Given the description of an element on the screen output the (x, y) to click on. 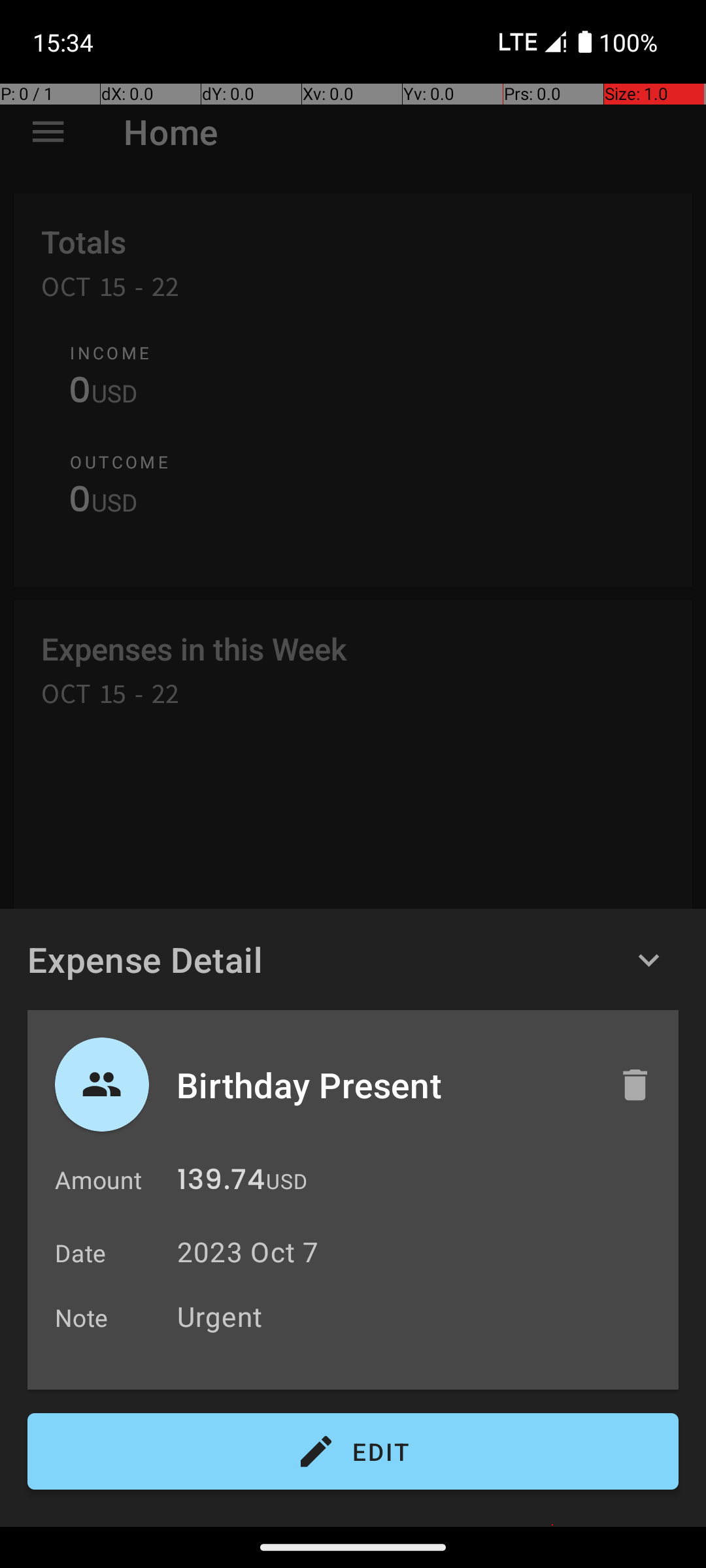
Birthday Present Element type: android.widget.TextView (383, 1084)
139.74 Element type: android.widget.TextView (220, 1182)
2023 Oct 7 Element type: android.widget.TextView (247, 1251)
Urgent Element type: android.widget.TextView (420, 1315)
